Given the description of an element on the screen output the (x, y) to click on. 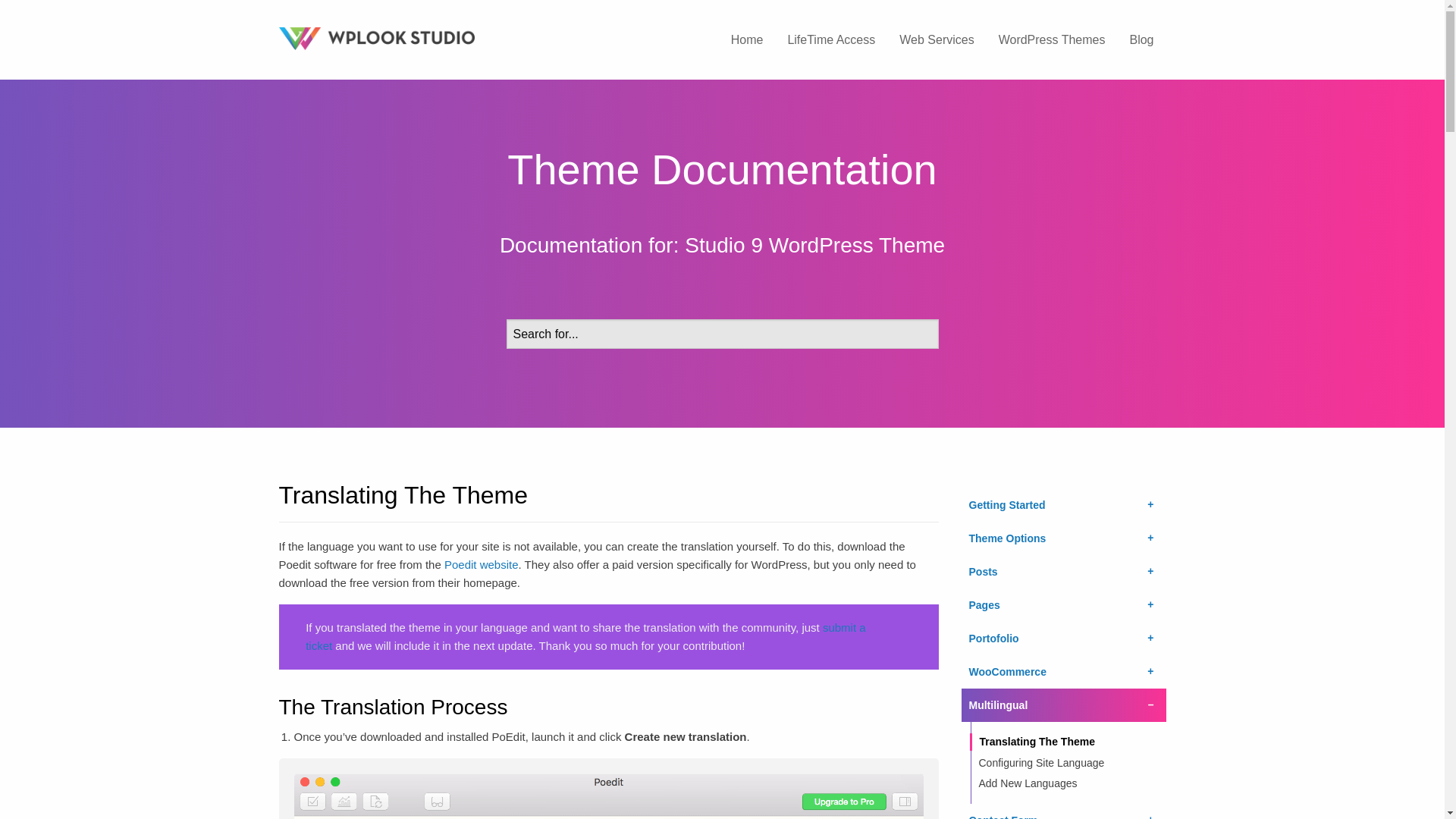
Theme Options (1063, 538)
submit a ticket (584, 635)
Pages (1063, 604)
Posts (1063, 571)
Documentation for: Studio 9 WordPress Theme (721, 245)
Blog (1141, 39)
Poedit website (481, 563)
Getting Started (1063, 504)
Category Name (721, 245)
Home (747, 39)
WPlook Documentation -  (419, 37)
LifeTime Access (830, 39)
Search for... (722, 333)
WordPress Themes (1052, 39)
Web Services (935, 39)
